Given the description of an element on the screen output the (x, y) to click on. 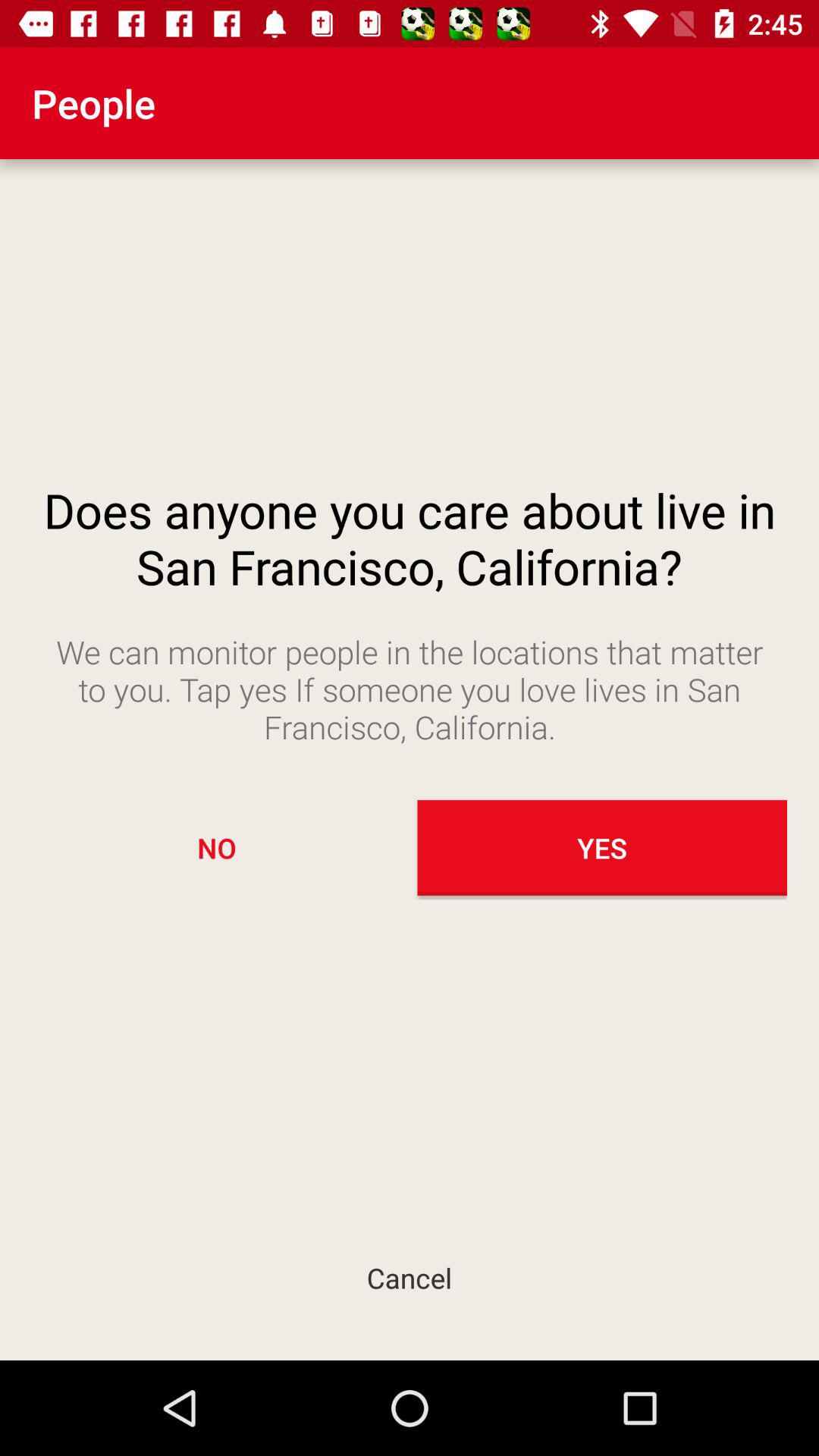
select the icon on the left (216, 847)
